Given the description of an element on the screen output the (x, y) to click on. 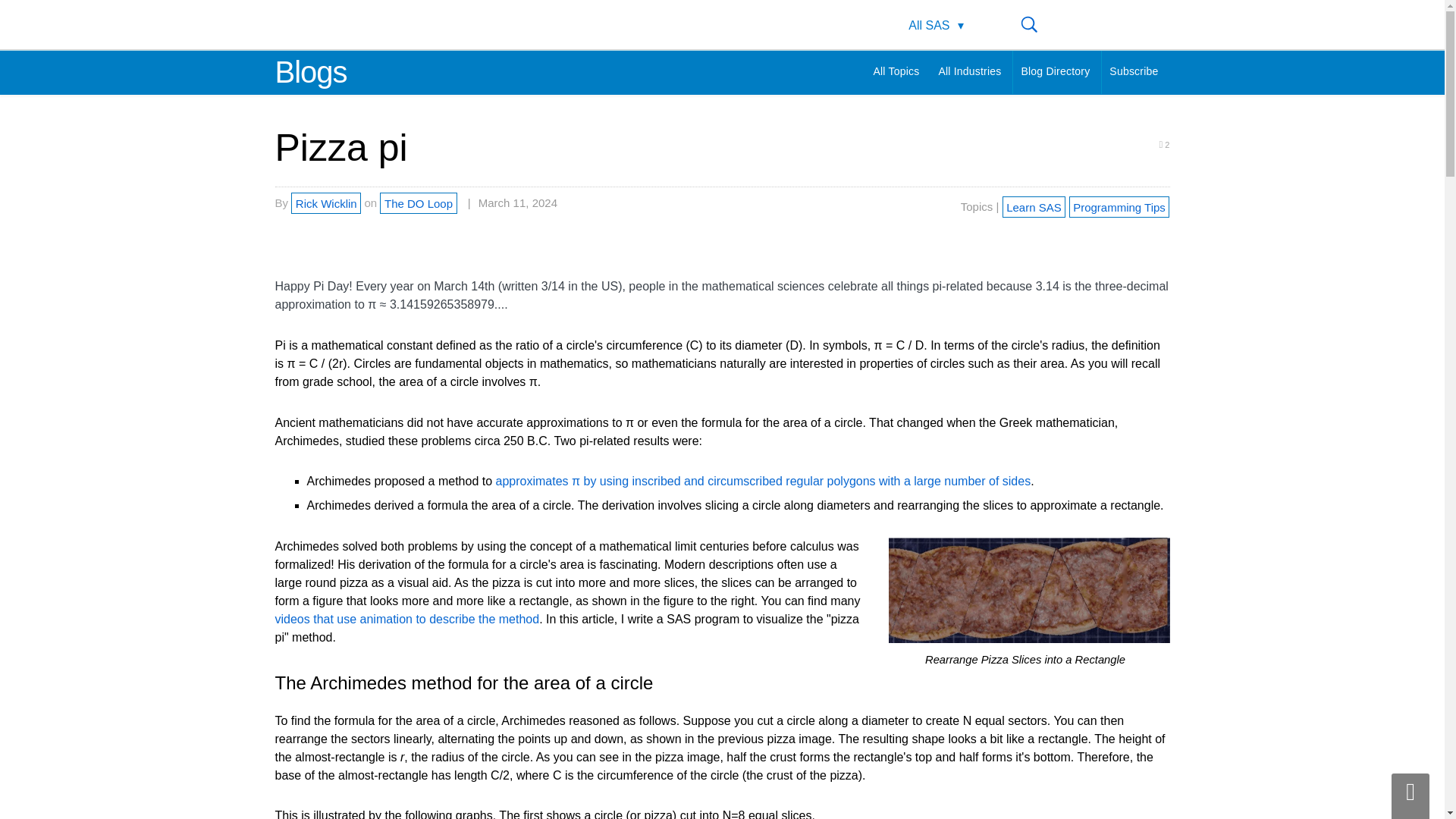
Worldwide Sites (1072, 24)
Learn SAS (1034, 206)
Programming Tips (1119, 206)
Posts by Rick Wicklin (326, 202)
SAS Sites (1141, 24)
All SAS (935, 25)
Contact Us (1108, 24)
Search (1037, 24)
2024-03-11 (512, 202)
